Given the description of an element on the screen output the (x, y) to click on. 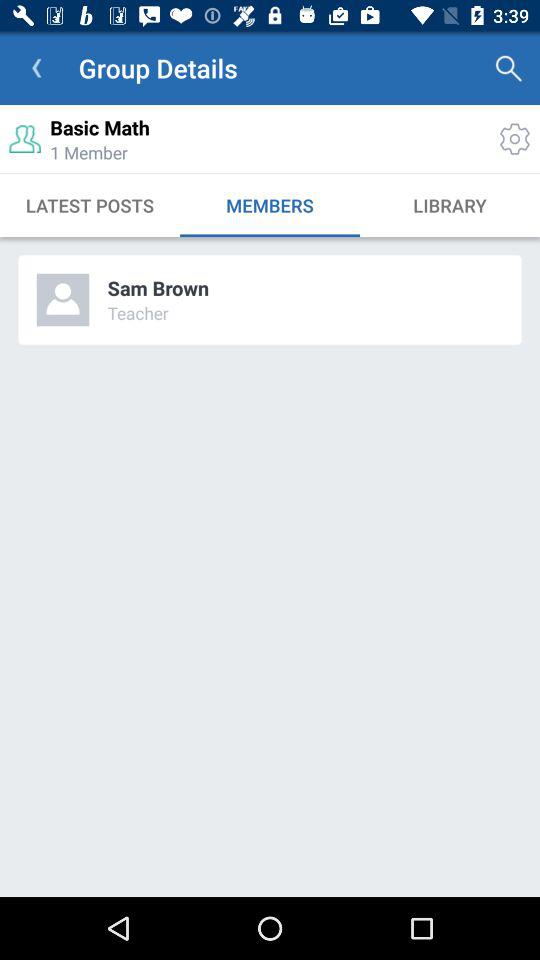
open app settings (514, 138)
